Given the description of an element on the screen output the (x, y) to click on. 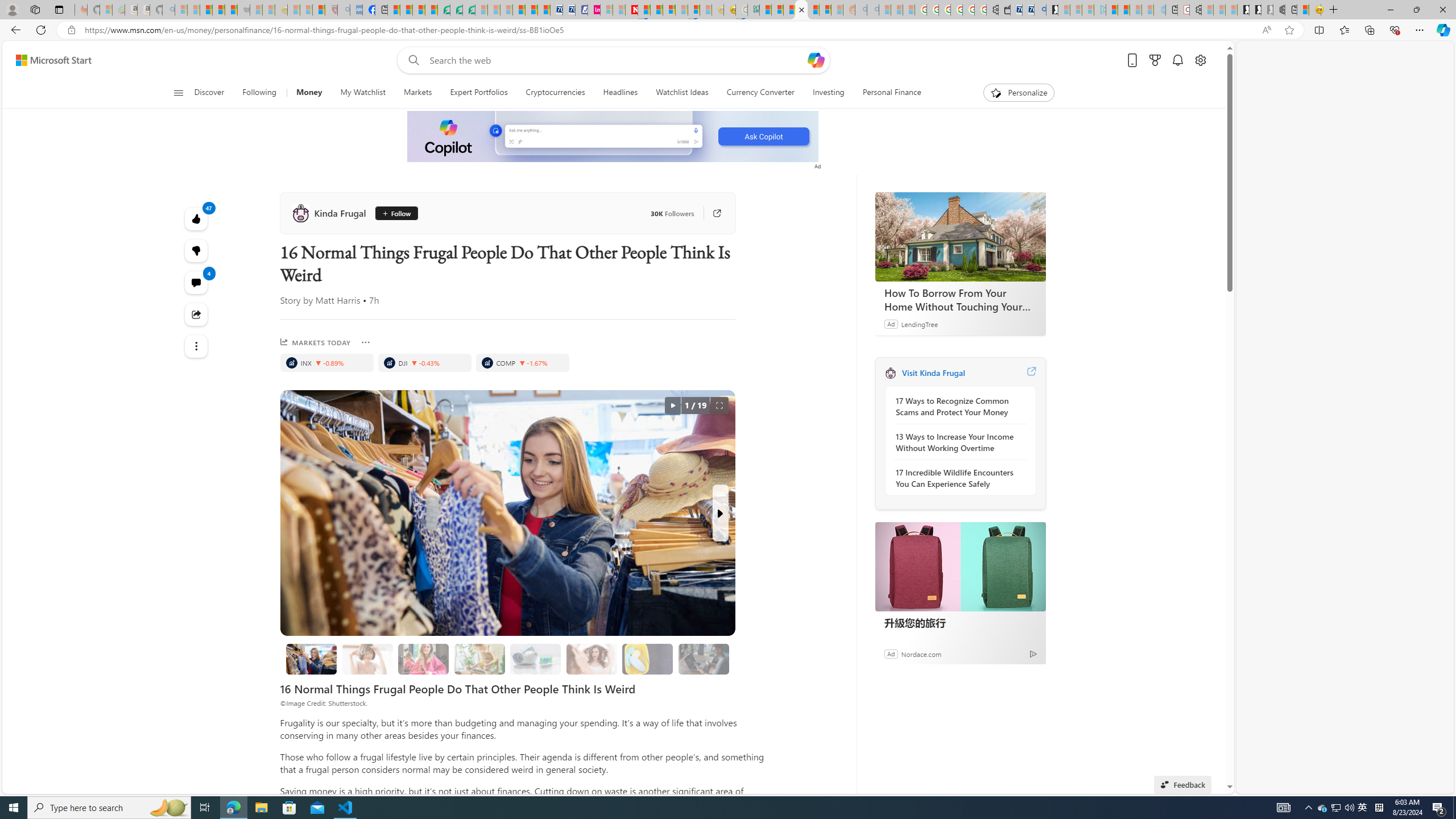
Investing (828, 92)
7. Not Upgrading Phones (703, 658)
INX, S&P 500. Price is 5,570.64. Decreased by -0.89% (326, 362)
Jobs - lastminute.com Investor Portal (593, 9)
My Watchlist (362, 92)
Markets (417, 92)
